Given the description of an element on the screen output the (x, y) to click on. 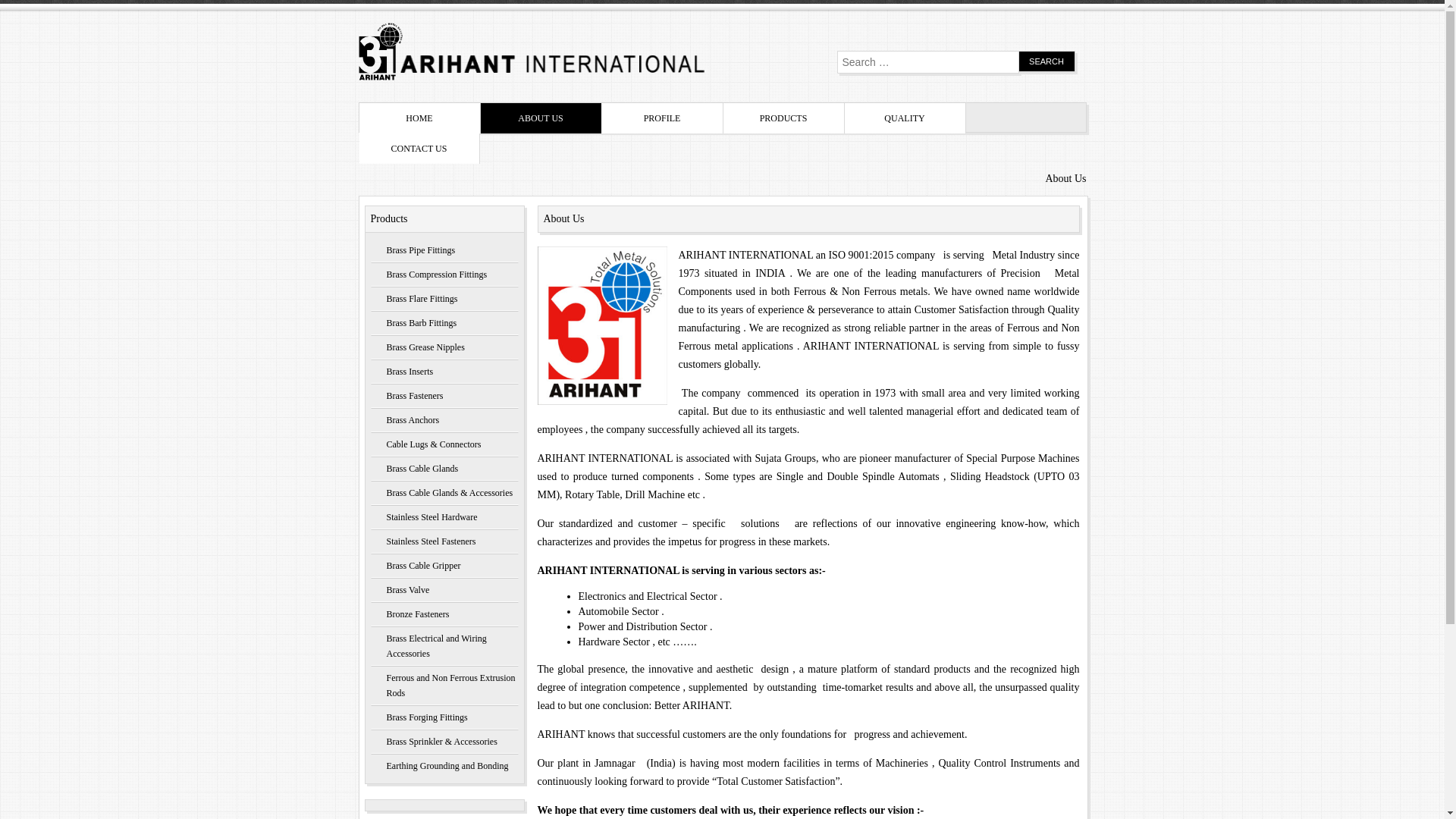
Brass Inserts (443, 371)
Brass Fasteners (443, 395)
Stainless Steel Hardware (443, 517)
Brass Compression Fittings (443, 274)
Brass Barb Fittings (443, 322)
ABOUT US (541, 118)
Brass Valve (443, 589)
HOME (419, 118)
Brass Forging Fittings (443, 717)
Earthing Grounding and Bonding (443, 765)
Brass Grease Nipples (443, 346)
Search (1045, 61)
PROFILE (662, 118)
Bronze Fasteners (443, 613)
Search (1045, 61)
